Given the description of an element on the screen output the (x, y) to click on. 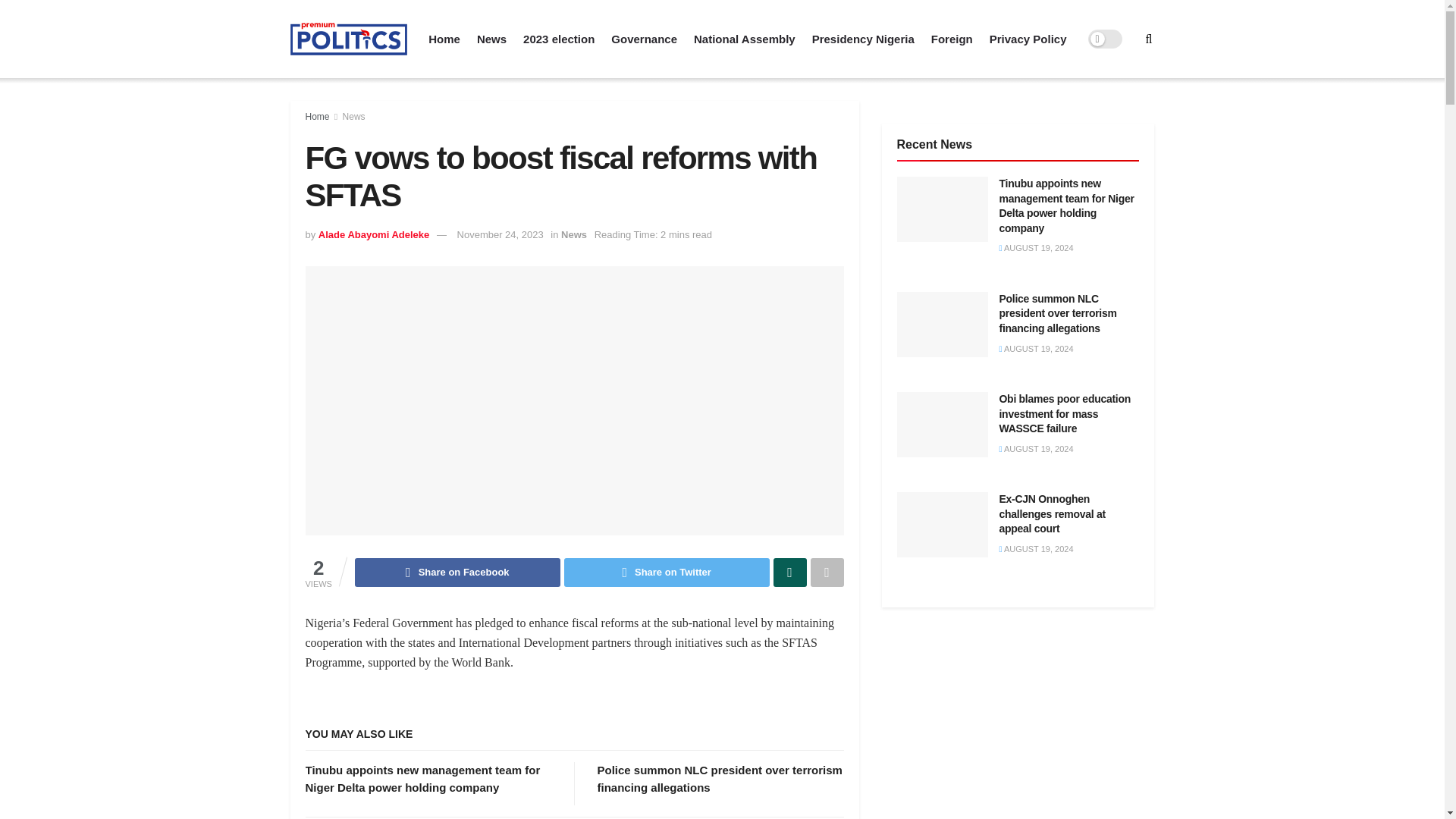
Home (316, 116)
Share on Facebook (457, 572)
2023 election (558, 38)
News (573, 234)
News (353, 116)
National Assembly (744, 38)
November 24, 2023 (500, 234)
Alade Abayomi Adeleke (373, 234)
Presidency Nigeria (863, 38)
